Given the description of an element on the screen output the (x, y) to click on. 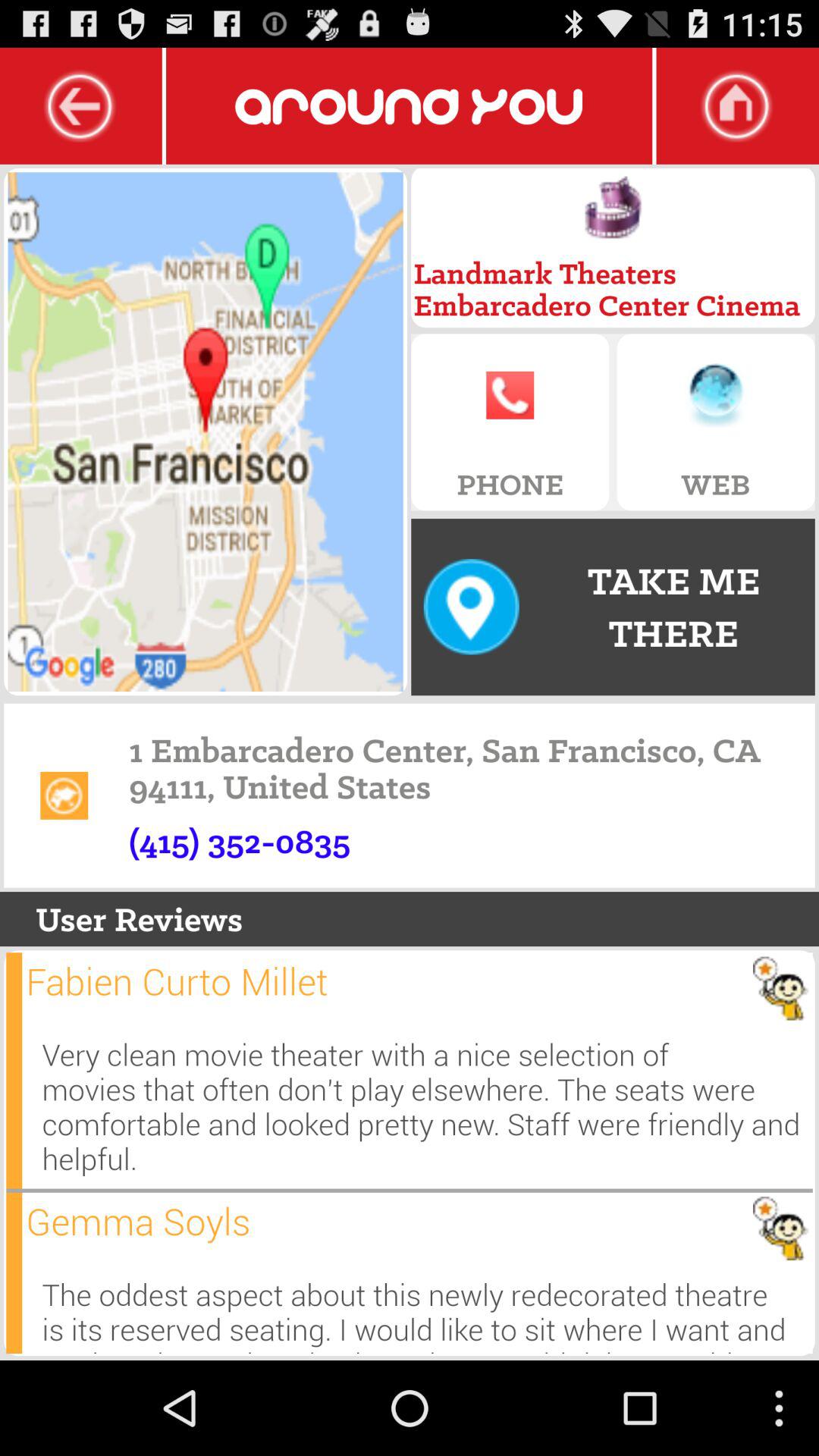
jump until gemma soyls item (138, 1220)
